Given the description of an element on the screen output the (x, y) to click on. 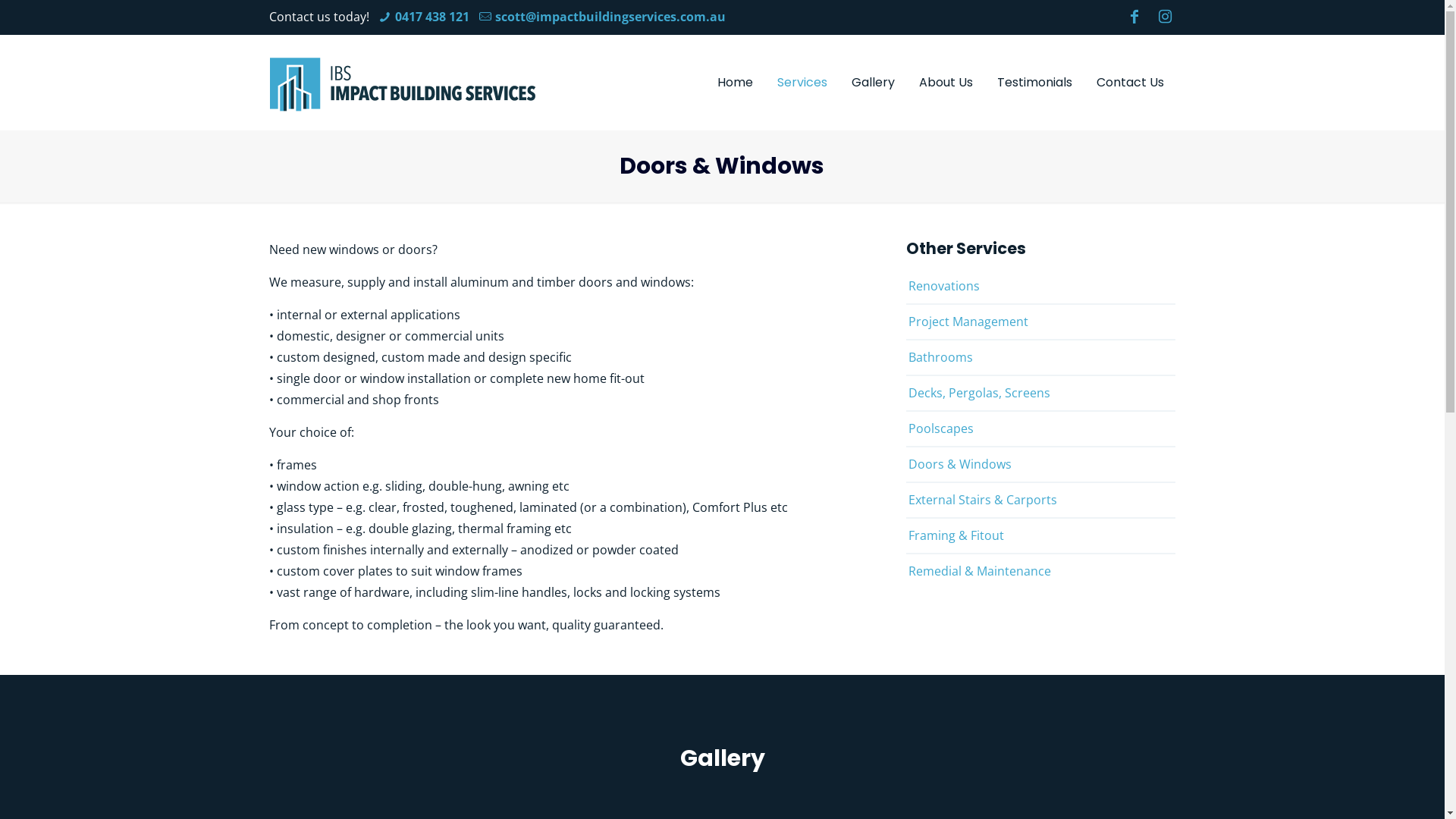
Home Element type: text (735, 82)
Testimonials Element type: text (1034, 82)
External Stairs & Carports Element type: text (1040, 499)
Facebook Element type: hover (1132, 17)
Renovations Element type: text (1040, 285)
Doors & Windows Element type: text (1040, 464)
Bathrooms Element type: text (1040, 356)
Project Management Element type: text (1040, 321)
Framing & Fitout Element type: text (1040, 535)
Gallery Element type: text (872, 82)
scott@impactbuildingservices.com.au Element type: text (610, 16)
Poolscapes Element type: text (1040, 428)
Instagram Element type: hover (1162, 17)
About Us Element type: text (945, 82)
Impact Building Services Element type: hover (402, 82)
Remedial & Maintenance Element type: text (1040, 570)
0417 438 121 Element type: text (432, 16)
Services Element type: text (802, 82)
Decks, Pergolas, Screens Element type: text (1040, 393)
Contact Us Element type: text (1130, 82)
